Given the description of an element on the screen output the (x, y) to click on. 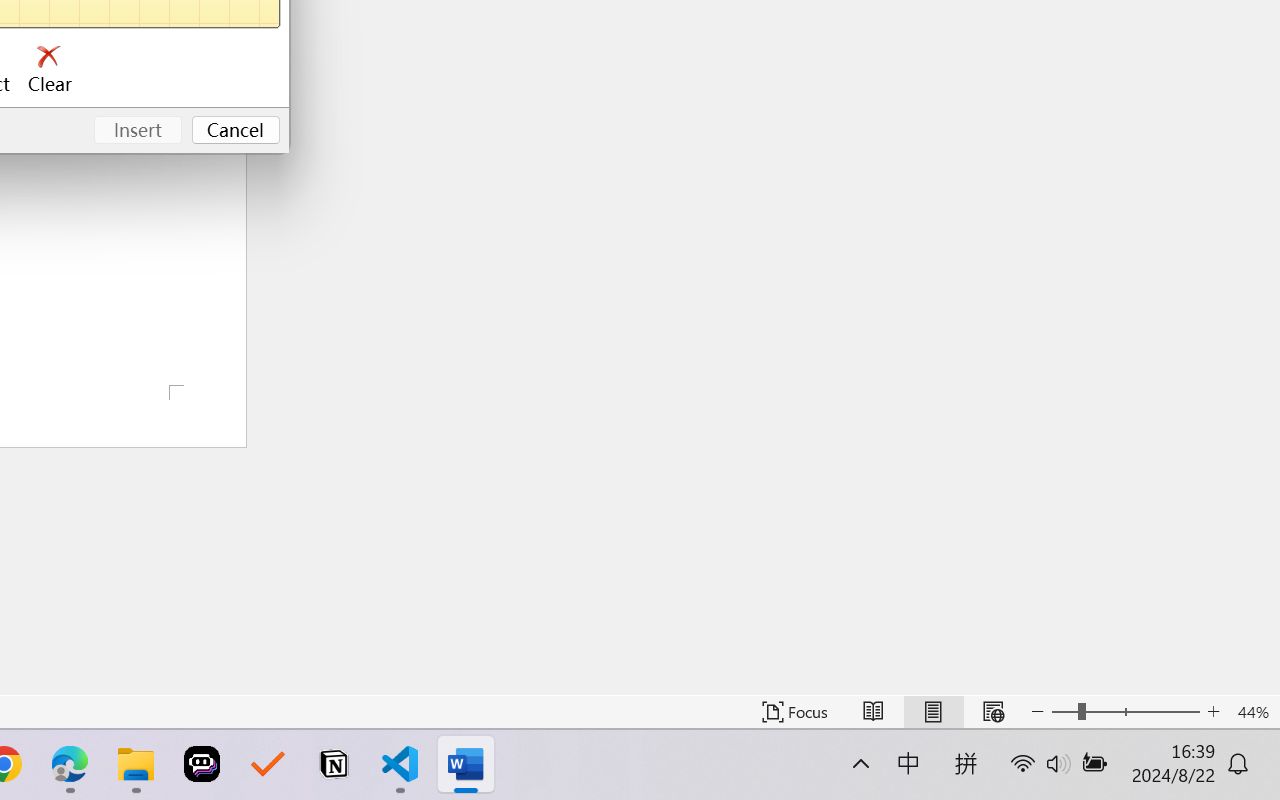
Cancel (235, 129)
